Given the description of an element on the screen output the (x, y) to click on. 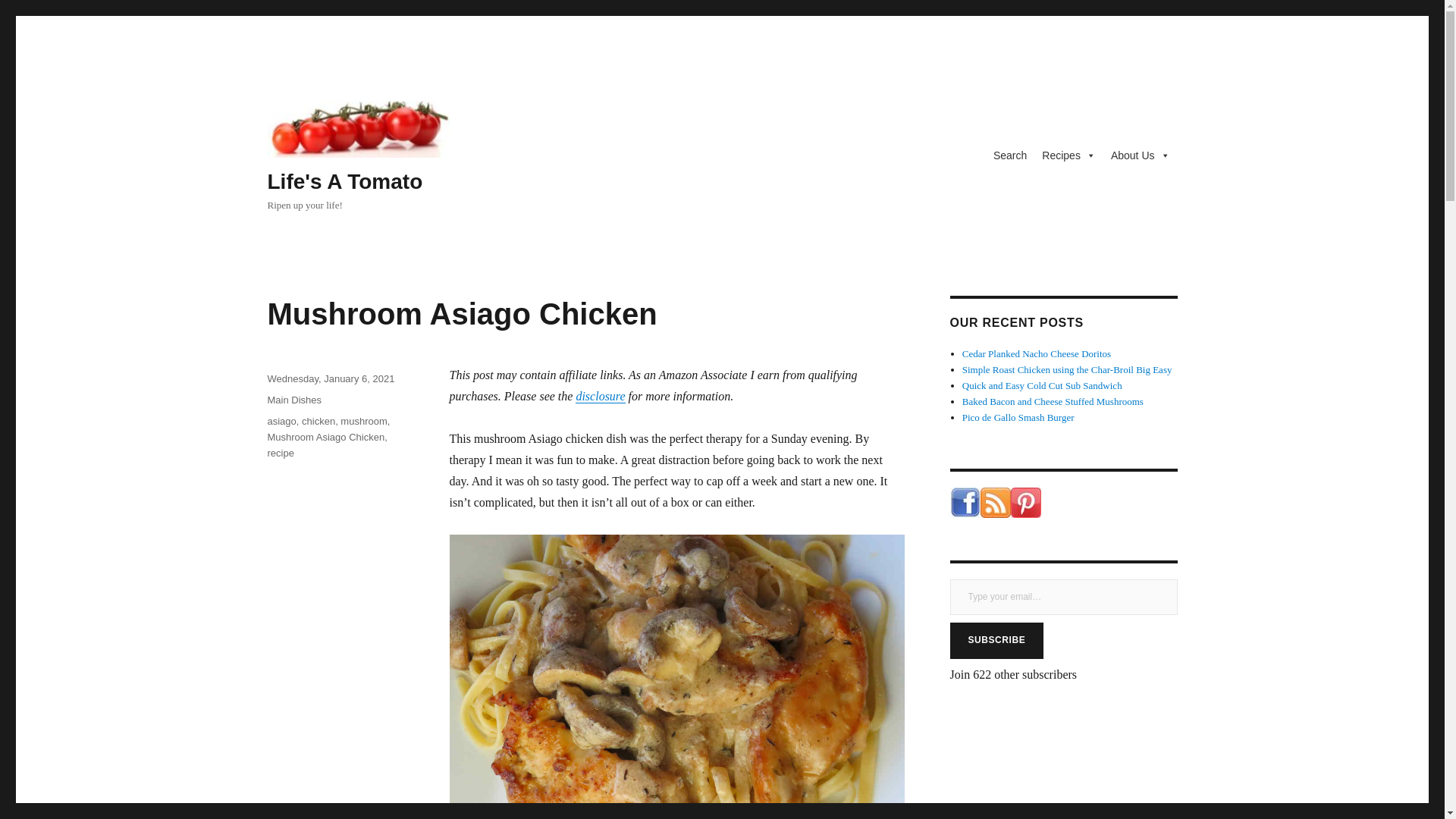
disclosure (599, 395)
Recipes (1068, 155)
Life's A Tomato (344, 181)
Search (1009, 155)
About Us (1140, 155)
